Given the description of an element on the screen output the (x, y) to click on. 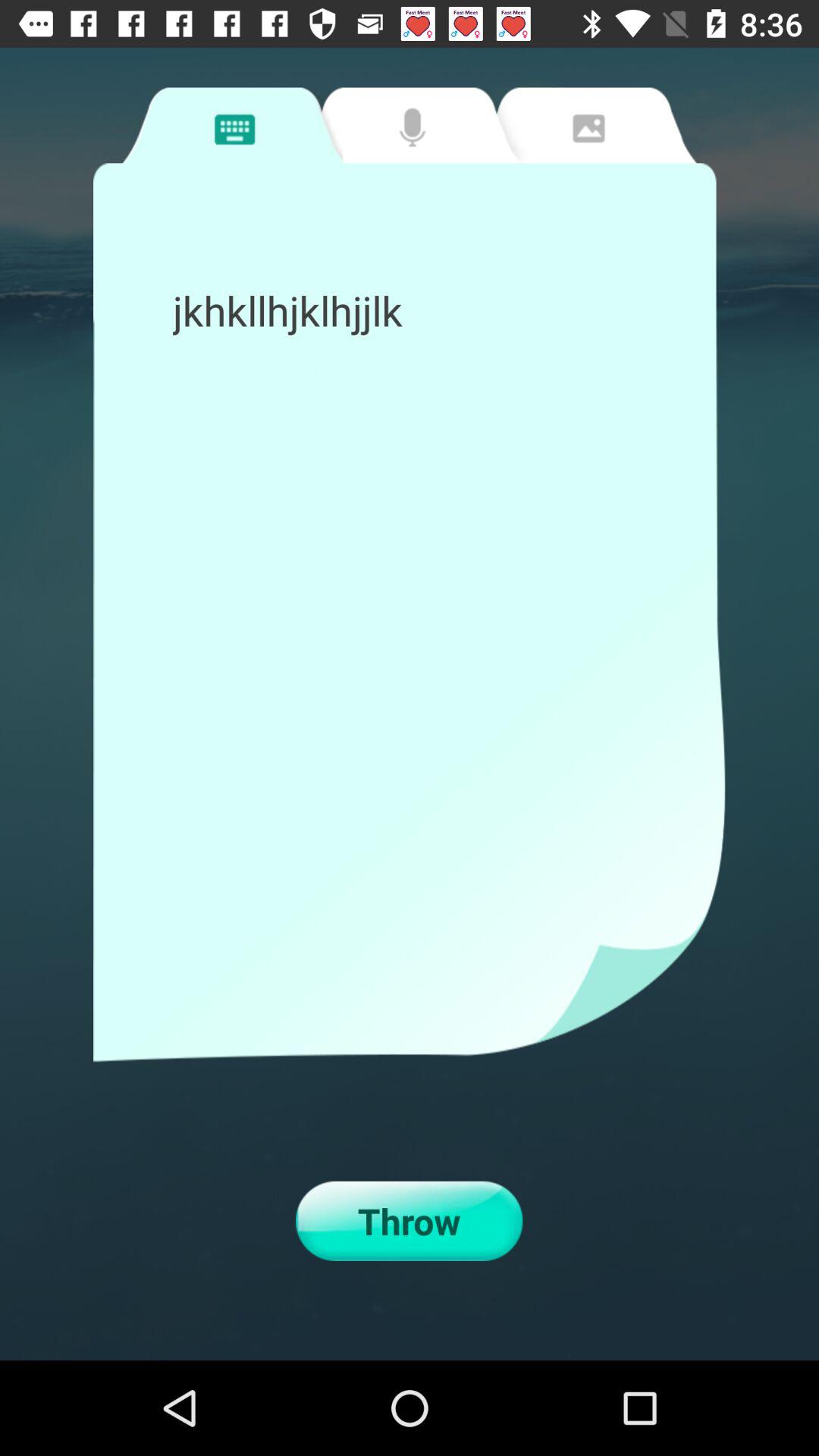
open picture tab (586, 125)
